Given the description of an element on the screen output the (x, y) to click on. 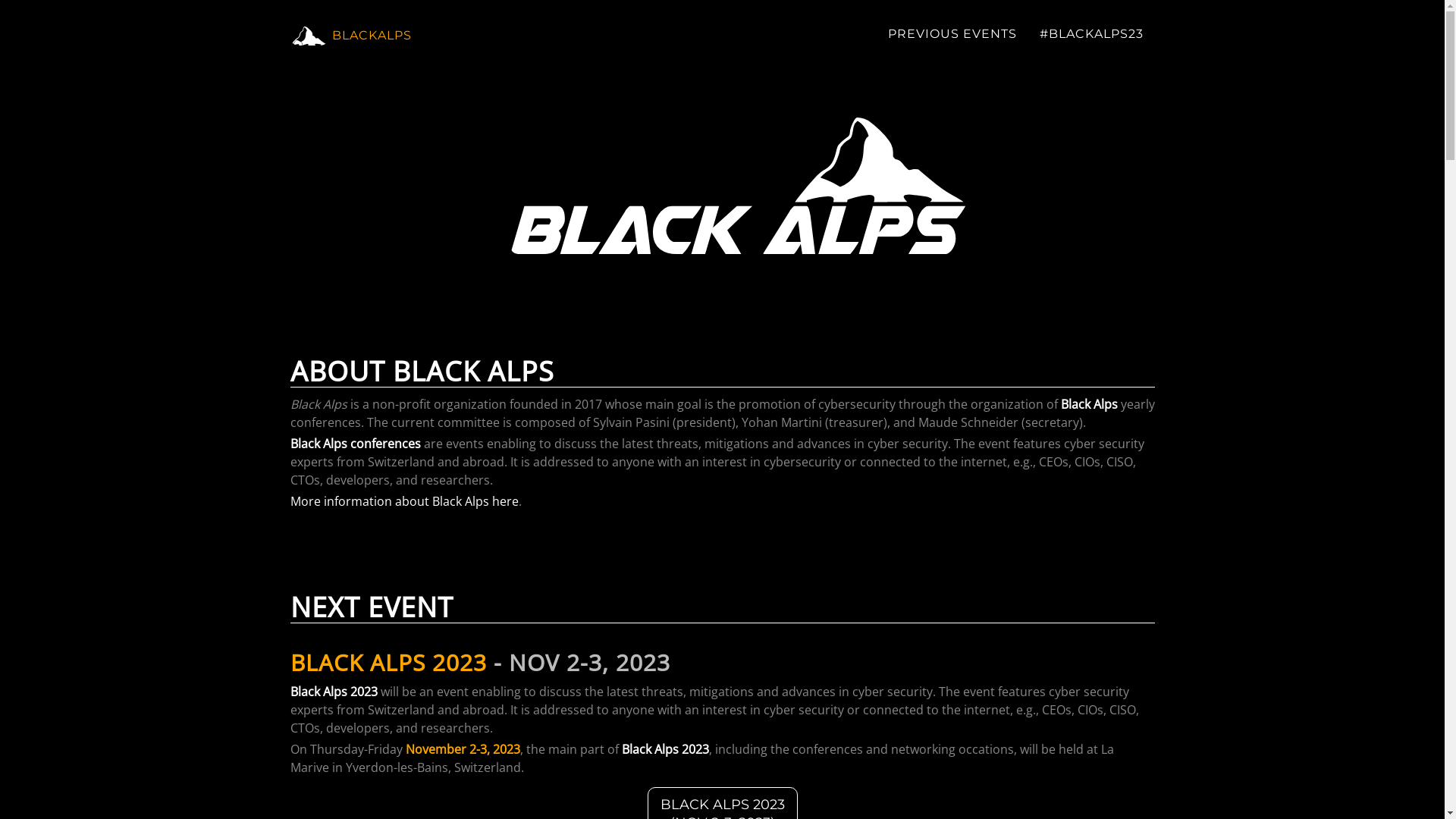
PREVIOUS EVENTS Element type: text (952, 34)
More information about Black Alps here Element type: text (403, 500)
#BLACKALPS23 Element type: text (1091, 34)
BLACKALPS Element type: text (351, 34)
